Given the description of an element on the screen output the (x, y) to click on. 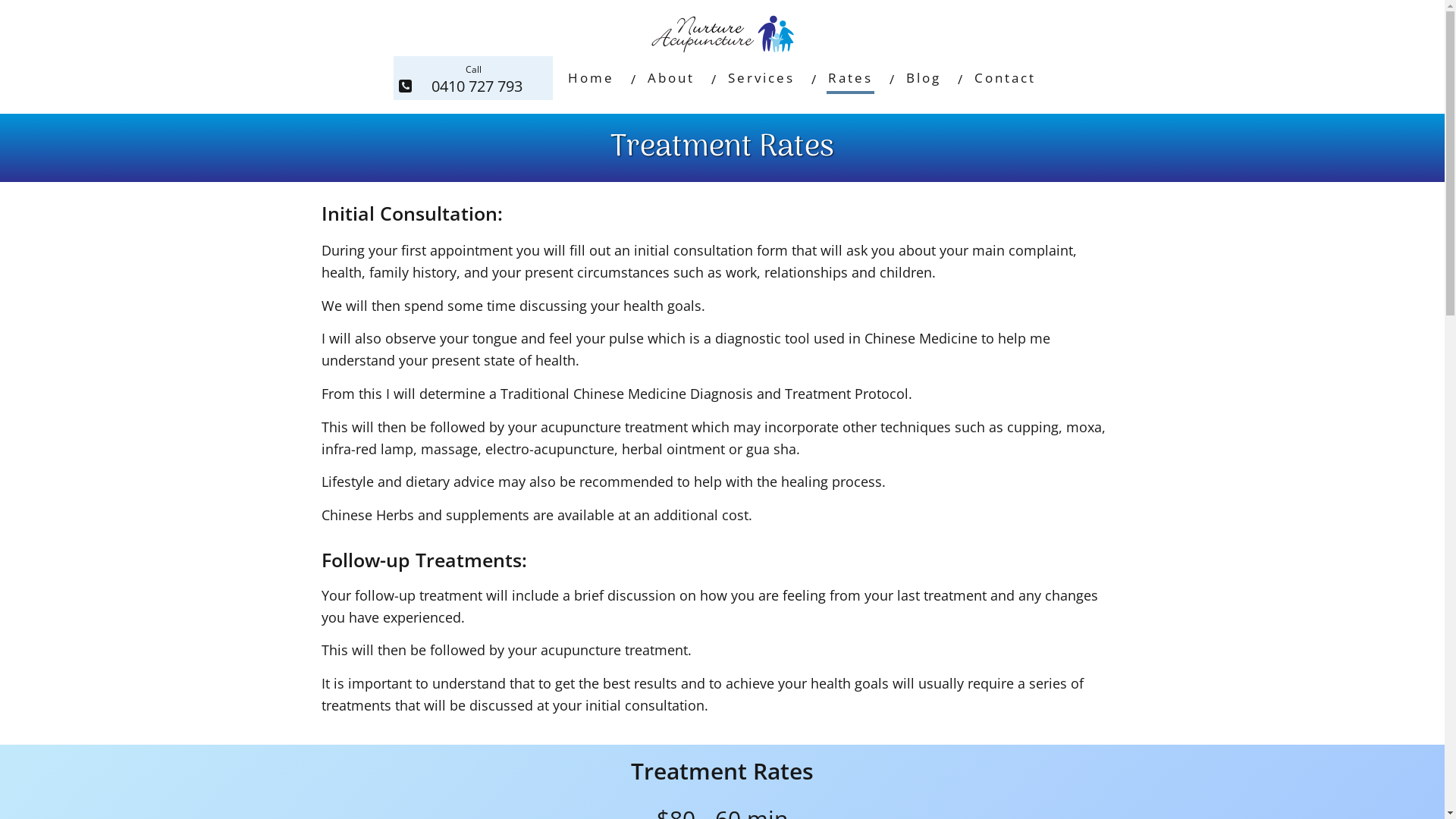
Rates Element type: text (850, 78)
Blog Element type: text (923, 78)
Call
0410 727 793 Element type: text (472, 78)
Contact Element type: text (1004, 78)
Services Element type: text (761, 78)
Home Element type: text (590, 78)
About Element type: text (671, 78)
